Given the description of an element on the screen output the (x, y) to click on. 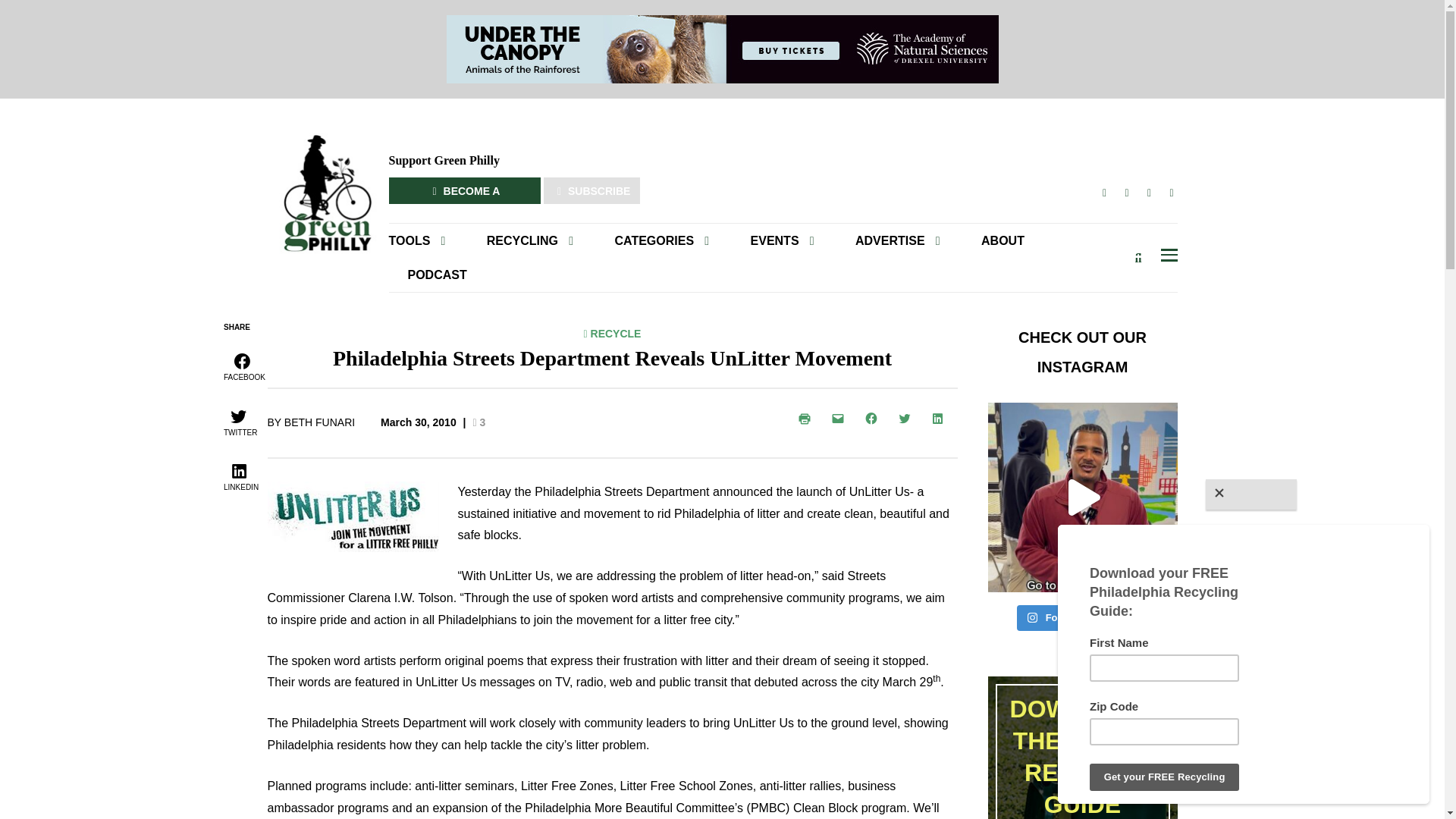
Click to share on Facebook (242, 365)
Click to share on Twitter (906, 418)
unlitter (352, 516)
CSA GUIDE (529, 266)
Click to print (807, 418)
Subscribe (935, 278)
Click to share on Facebook (873, 418)
RECYCLING (529, 240)
Click to email a link to a friend (840, 418)
BIKING (675, 266)
CATEGORIES (661, 240)
SUBSCRIBE (591, 190)
Click to share on LinkedIn (939, 418)
BECOME A SUPPORTER (464, 190)
